Given the description of an element on the screen output the (x, y) to click on. 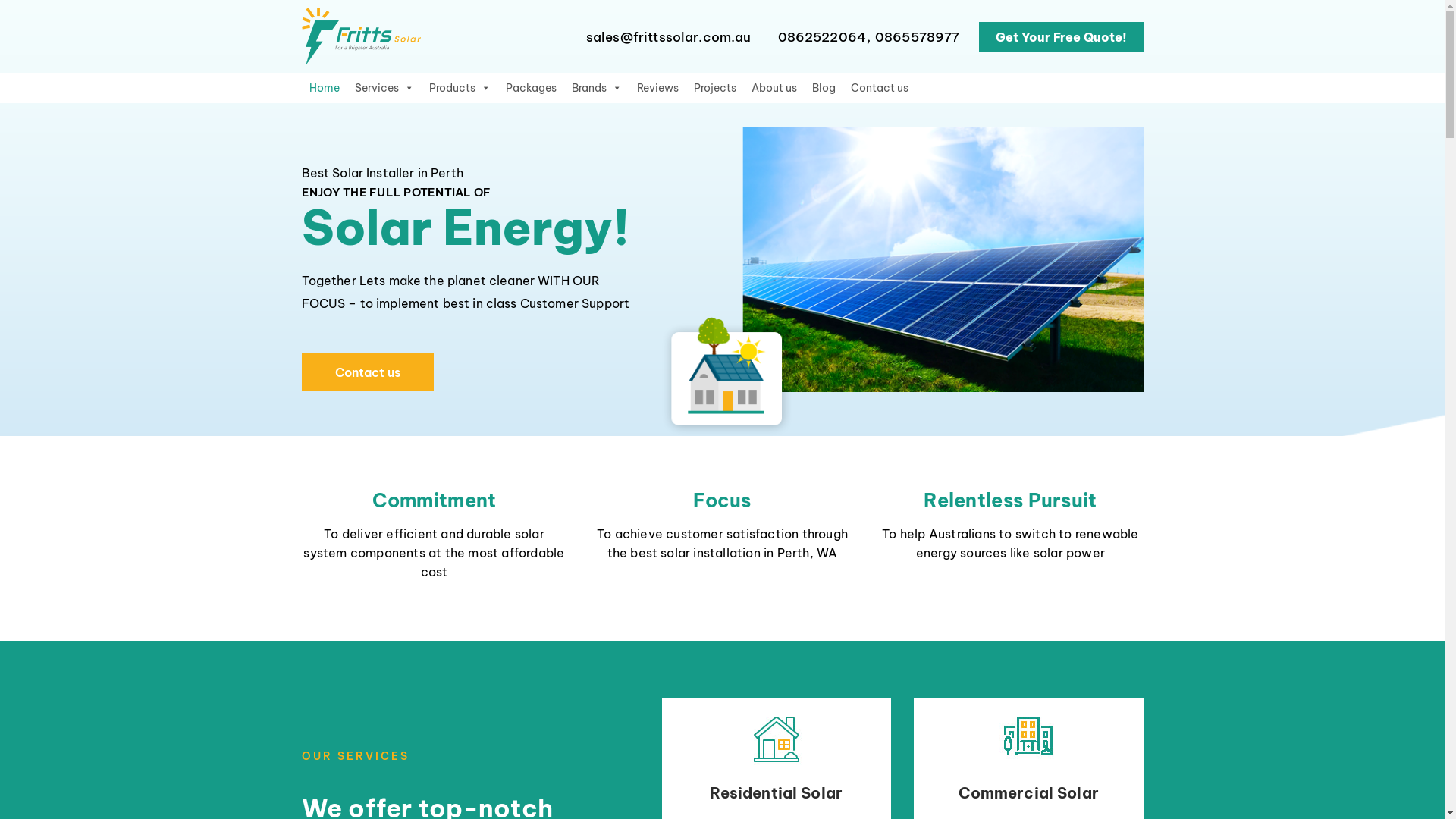
Reviews Element type: text (657, 87)
Services Element type: text (384, 87)
0862522064 Element type: text (822, 36)
sales@frittssolar.com.au Element type: text (668, 36)
Contact us Element type: text (879, 87)
Blog Element type: text (822, 87)
Brands Element type: text (596, 87)
Home Element type: text (324, 87)
Projects Element type: text (714, 87)
Get Your Free Quote! Element type: text (1060, 36)
0865578977 Element type: text (917, 36)
Contact us Element type: text (367, 372)
About us Element type: text (773, 87)
Products Element type: text (459, 87)
Packages Element type: text (530, 87)
